Given the description of an element on the screen output the (x, y) to click on. 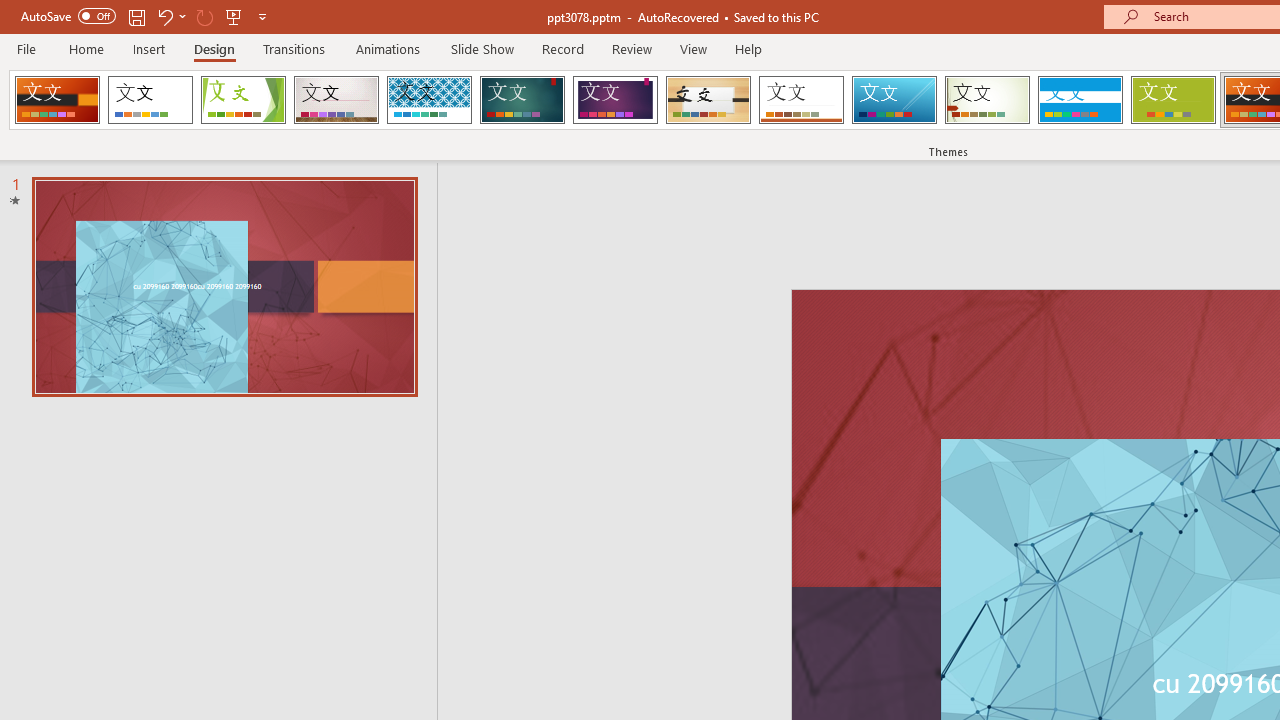
Basis (1172, 100)
Ion Boardroom (615, 100)
Wisp (987, 100)
Banded (1080, 100)
